Given the description of an element on the screen output the (x, y) to click on. 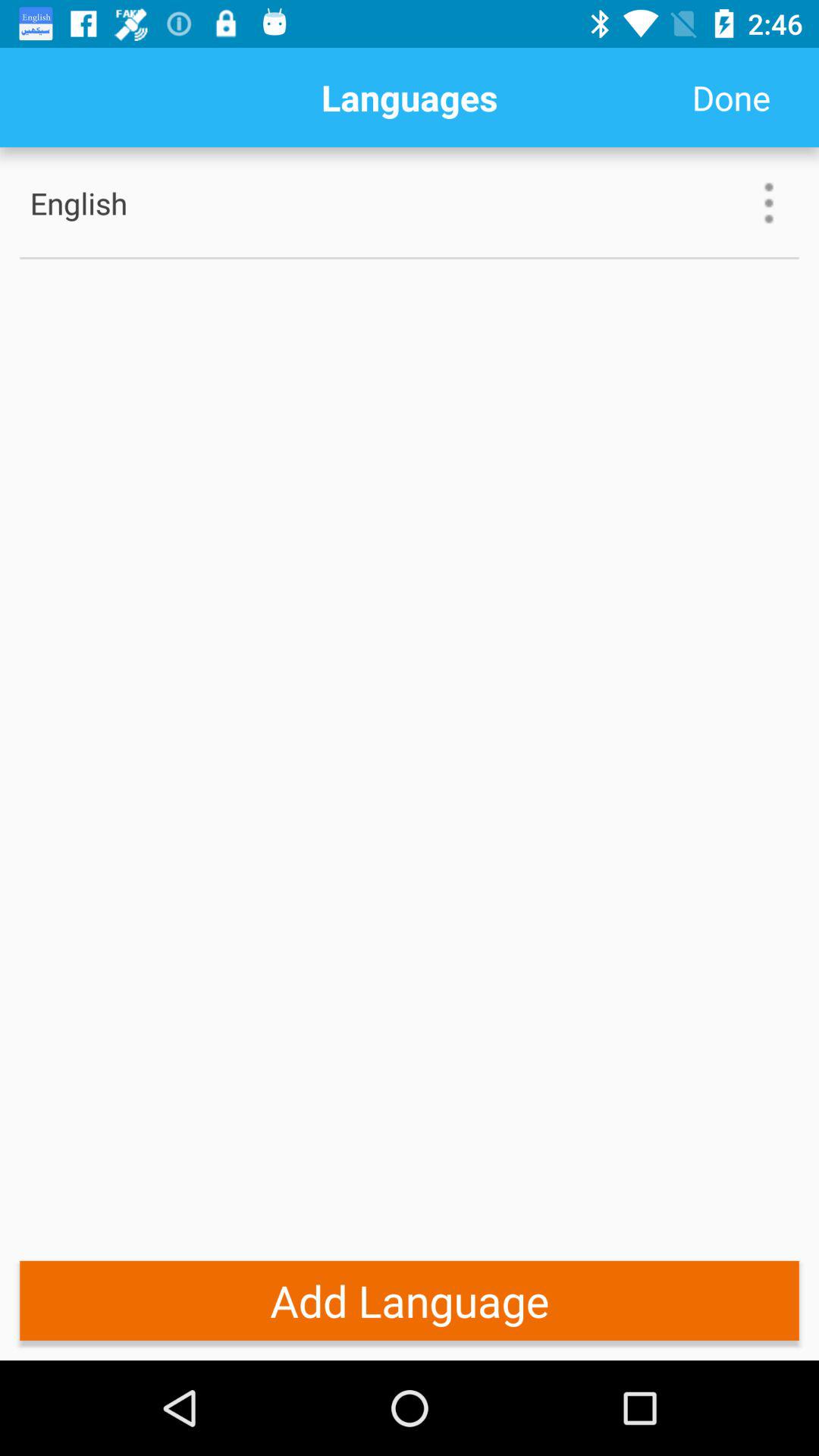
tap the icon next to english (768, 202)
